Given the description of an element on the screen output the (x, y) to click on. 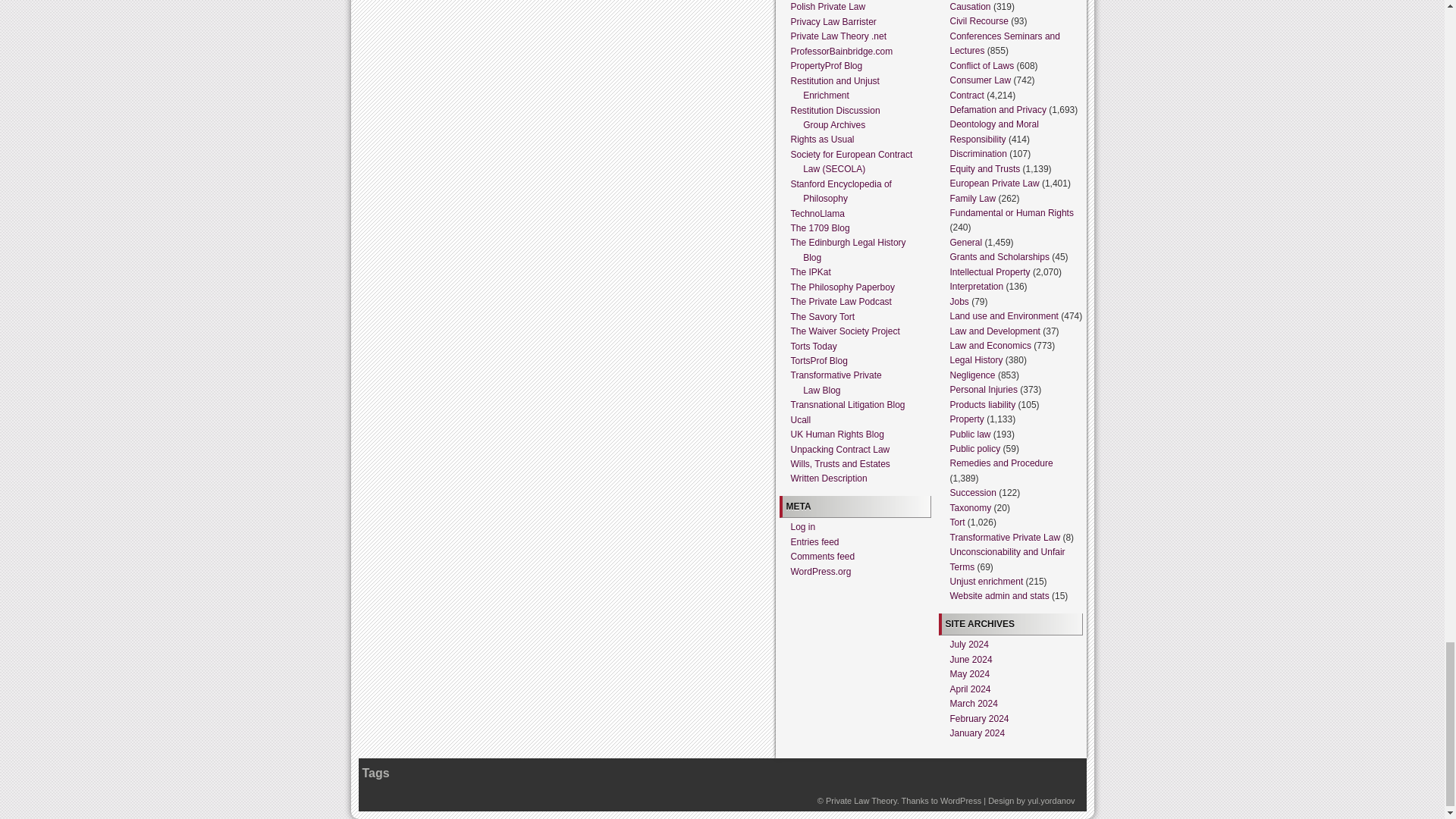
Obligations, Property, Legal Theory (860, 800)
